Given the description of an element on the screen output the (x, y) to click on. 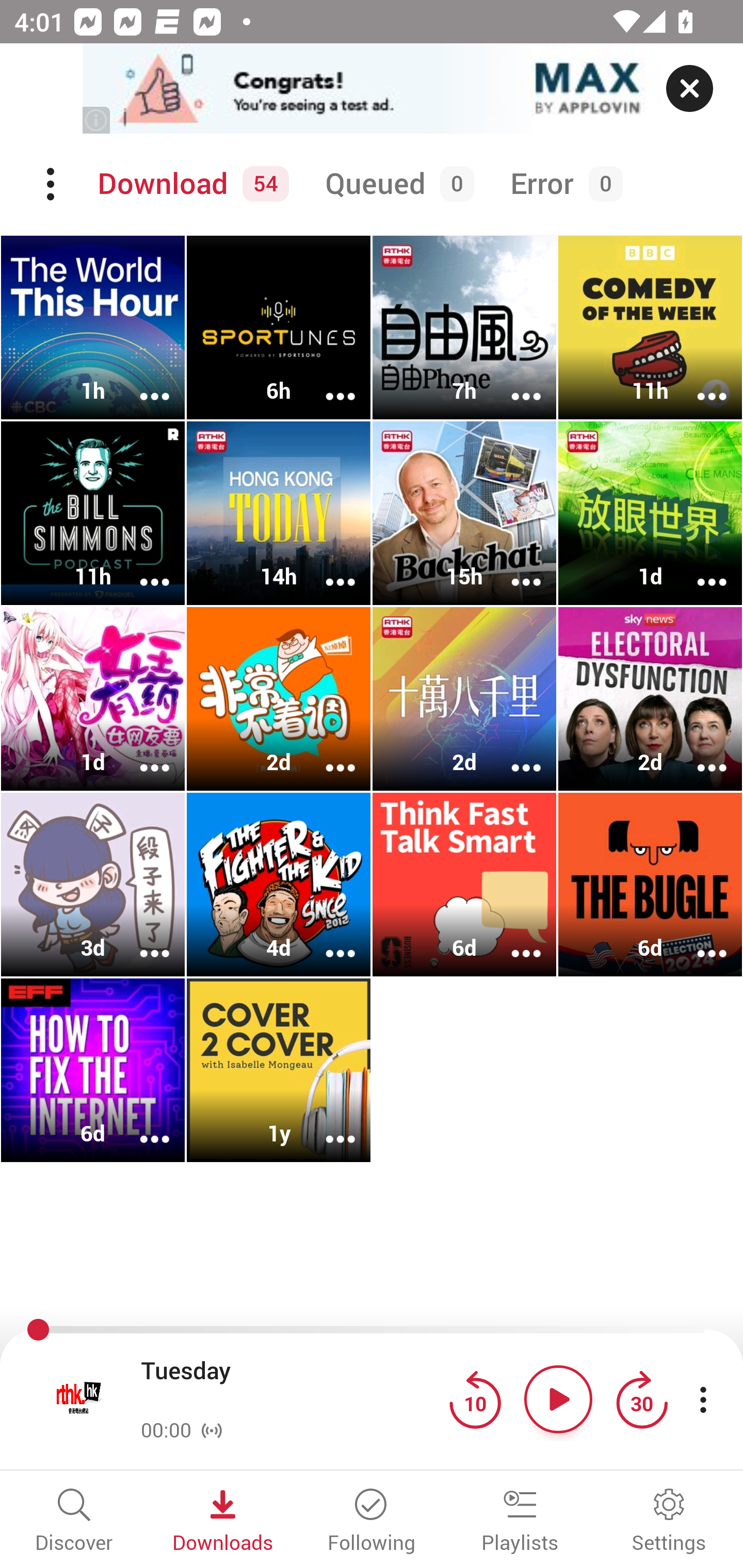
app-monetization (371, 88)
(i) (96, 119)
Menu (52, 184)
 Download 54 (189, 184)
 Queued 0 (396, 184)
 Error 0 (562, 184)
The World This Hour 1h More options More options (92, 327)
Sportunes HK 6h More options More options (278, 327)
自由风自由PHONE 7h More options More options (464, 327)
Comedy of the Week 11h More options More options (650, 327)
More options (141, 382)
More options (326, 382)
More options (512, 382)
More options (698, 382)
Hong Kong Today 14h More options More options (278, 513)
Backchat 15h More options More options (464, 513)
放眼世界 1d More options More options (650, 513)
More options (141, 569)
More options (326, 569)
More options (512, 569)
More options (698, 569)
女王有药丨爆笑脱口秀 1d More options More options (92, 698)
非常不着调 2d More options More options (278, 698)
十萬八千里 2d More options More options (464, 698)
Electoral Dysfunction 2d More options More options (650, 698)
More options (141, 754)
More options (326, 754)
More options (512, 754)
More options (698, 754)
段子来了 3d More options More options (92, 883)
The Fighter & The Kid 4d More options More options (278, 883)
The Bugle 6d More options More options (650, 883)
More options (141, 940)
More options (326, 940)
More options (512, 940)
More options (698, 940)
Cover 2 Cover 1y More options More options (278, 1069)
More options (141, 1125)
More options (326, 1125)
Open fullscreen player (79, 1399)
More player controls (703, 1399)
Tuesday (290, 1385)
Play button (558, 1398)
Jump back (475, 1399)
Jump forward (641, 1399)
Discover (74, 1521)
Downloads (222, 1521)
Following (371, 1521)
Playlists (519, 1521)
Settings (668, 1521)
